Given the description of an element on the screen output the (x, y) to click on. 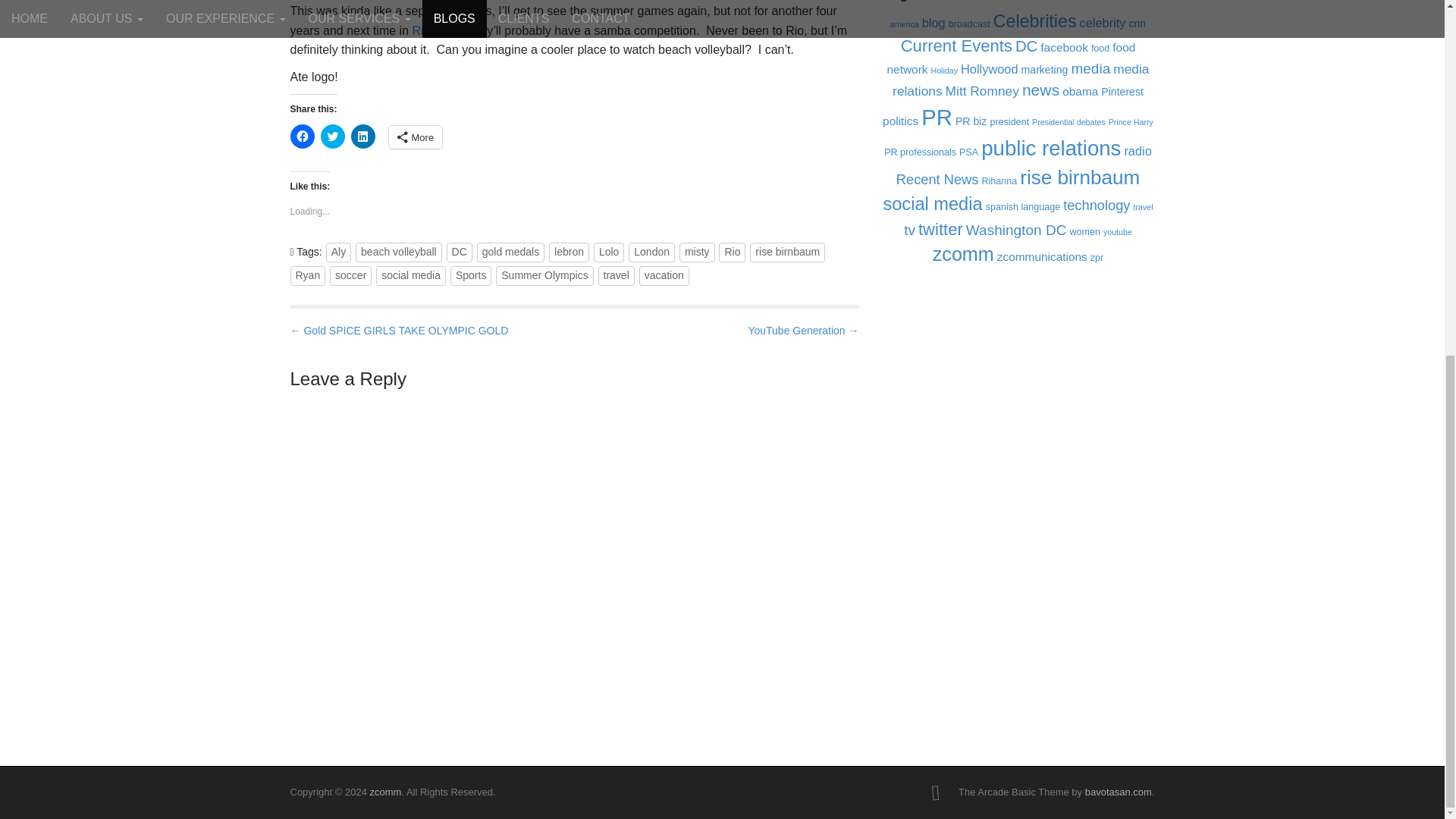
Click to share on Facebook (301, 136)
Click to share on Twitter (331, 136)
Click to share on LinkedIn (362, 136)
